Given the description of an element on the screen output the (x, y) to click on. 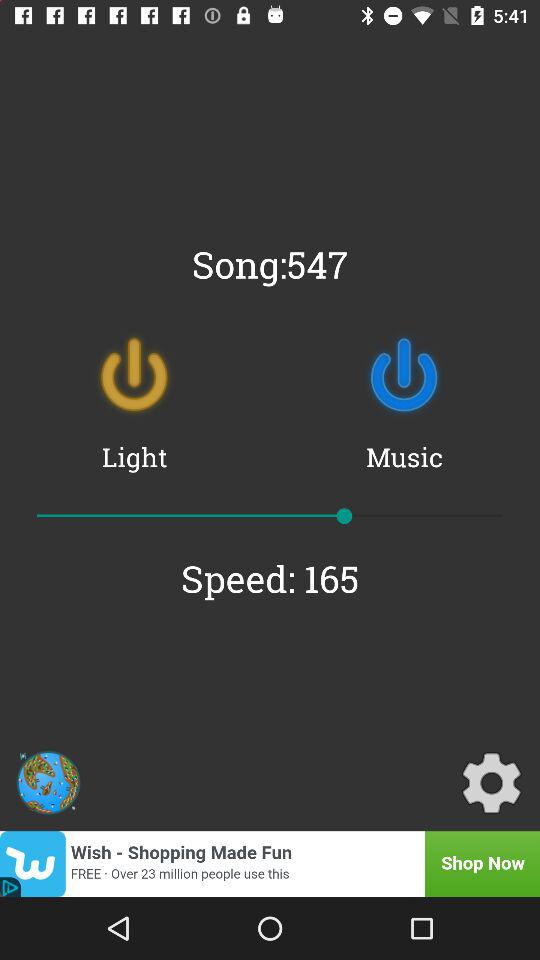
turn on item at the bottom left corner (48, 782)
